Given the description of an element on the screen output the (x, y) to click on. 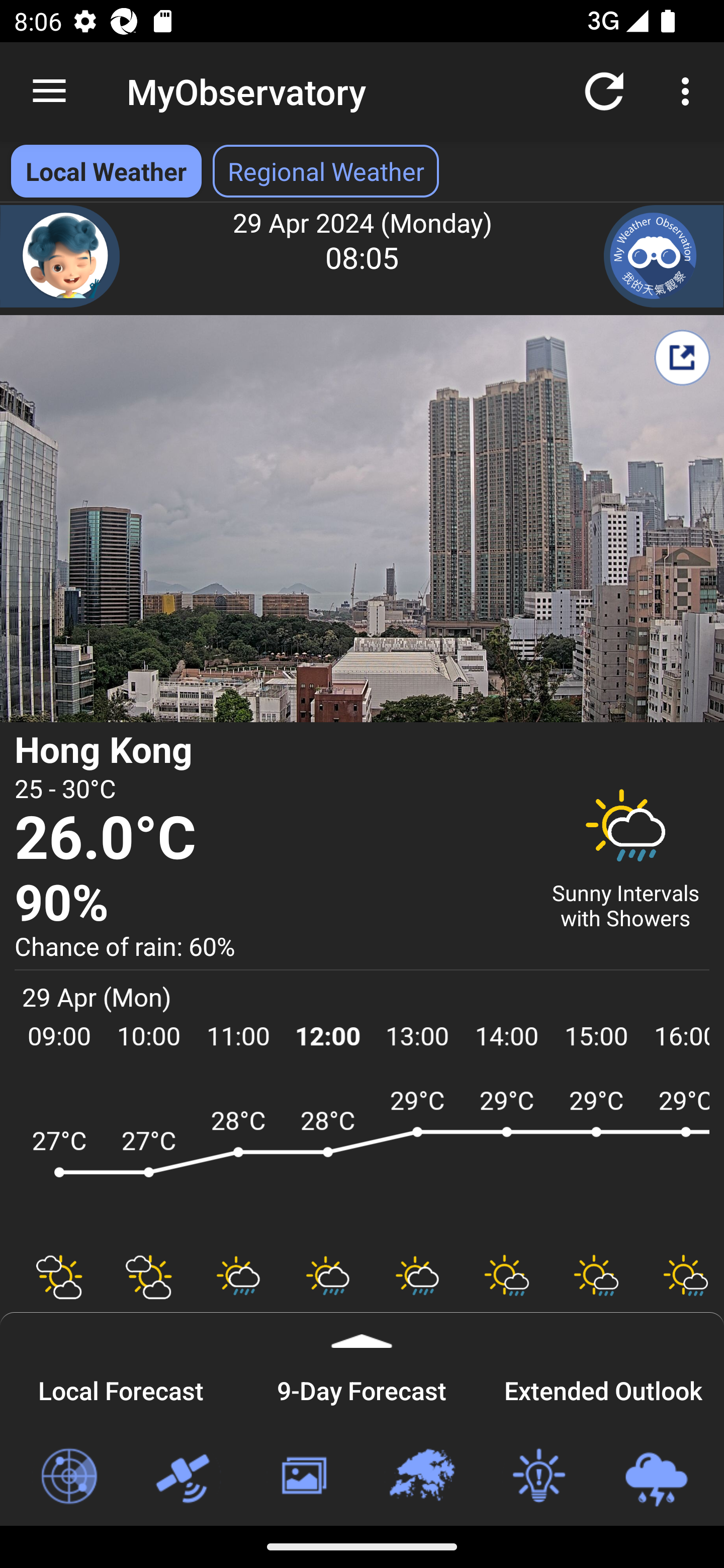
Navigate up (49, 91)
Refresh (604, 90)
More options (688, 90)
Local Weather Local Weather selected (105, 170)
Regional Weather Select Regional Weather (325, 170)
Chatbot (60, 256)
My Weather Observation (663, 256)
Share My Weather Report (681, 357)
26.0°C Temperature
26.0 degree Celsius (270, 839)
90% Relative Humidity
90 percent (270, 903)
ARWF (361, 1160)
Expand (362, 1330)
Local Forecast (120, 1387)
Extended Outlook (603, 1387)
Radar Images (68, 1476)
Satellite Images (185, 1476)
Weather Photos (302, 1476)
Regional Weather (420, 1476)
Weather Tips (537, 1476)
Loc-based Rain & Lightning Forecast (655, 1476)
